Given the description of an element on the screen output the (x, y) to click on. 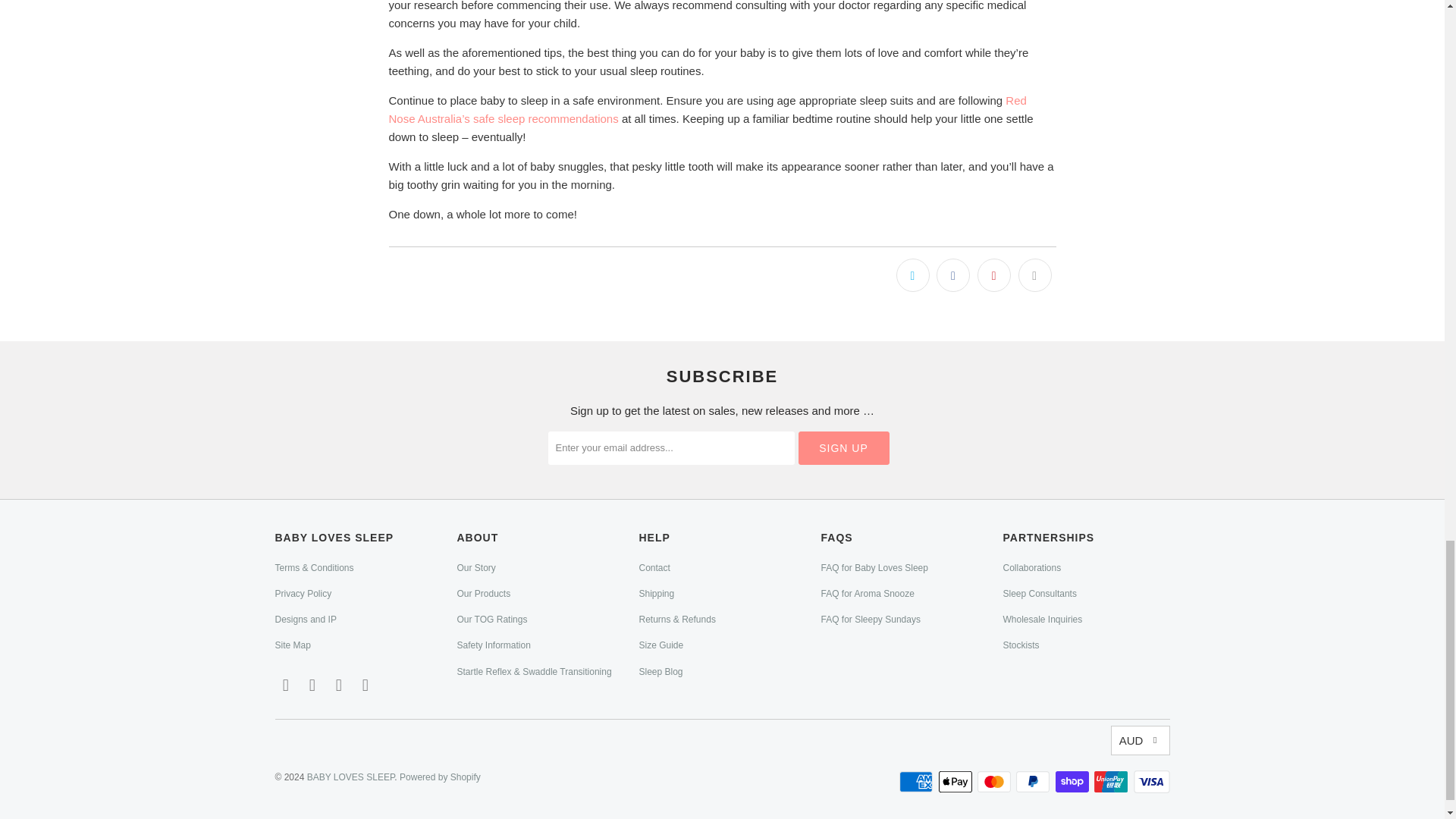
Union Pay (1112, 781)
PayPal (1034, 781)
Apple Pay (957, 781)
Share this on Pinterest (993, 274)
Share this on Facebook (952, 274)
Sign Up (842, 448)
Shop Pay (1073, 781)
Email BABY LOVES SLEEP (286, 685)
Visa (1150, 781)
Share this on Twitter (913, 274)
